Given the description of an element on the screen output the (x, y) to click on. 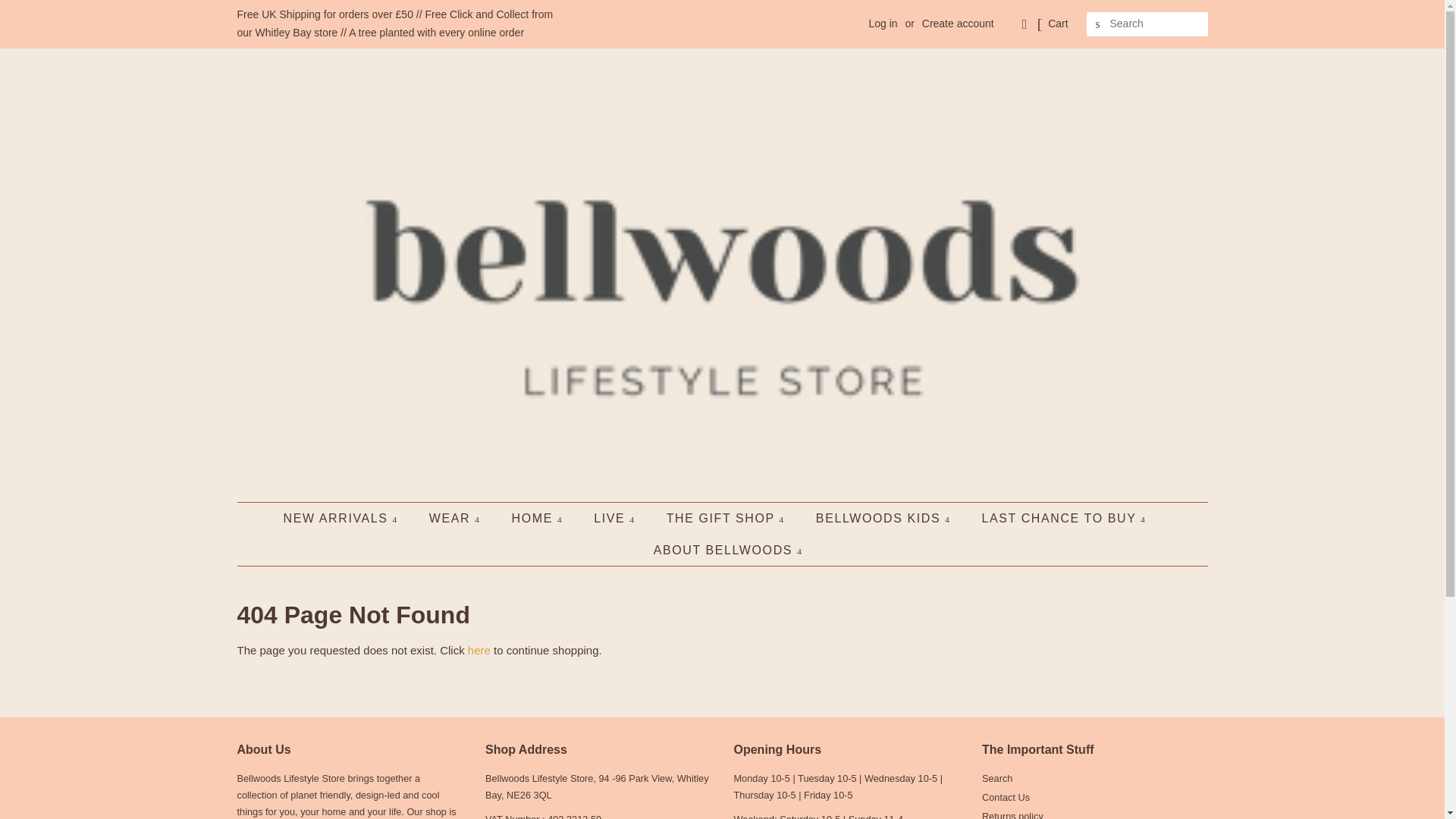
Log in (881, 23)
Cart (1057, 24)
SEARCH (1097, 24)
Create account (957, 23)
